Given the description of an element on the screen output the (x, y) to click on. 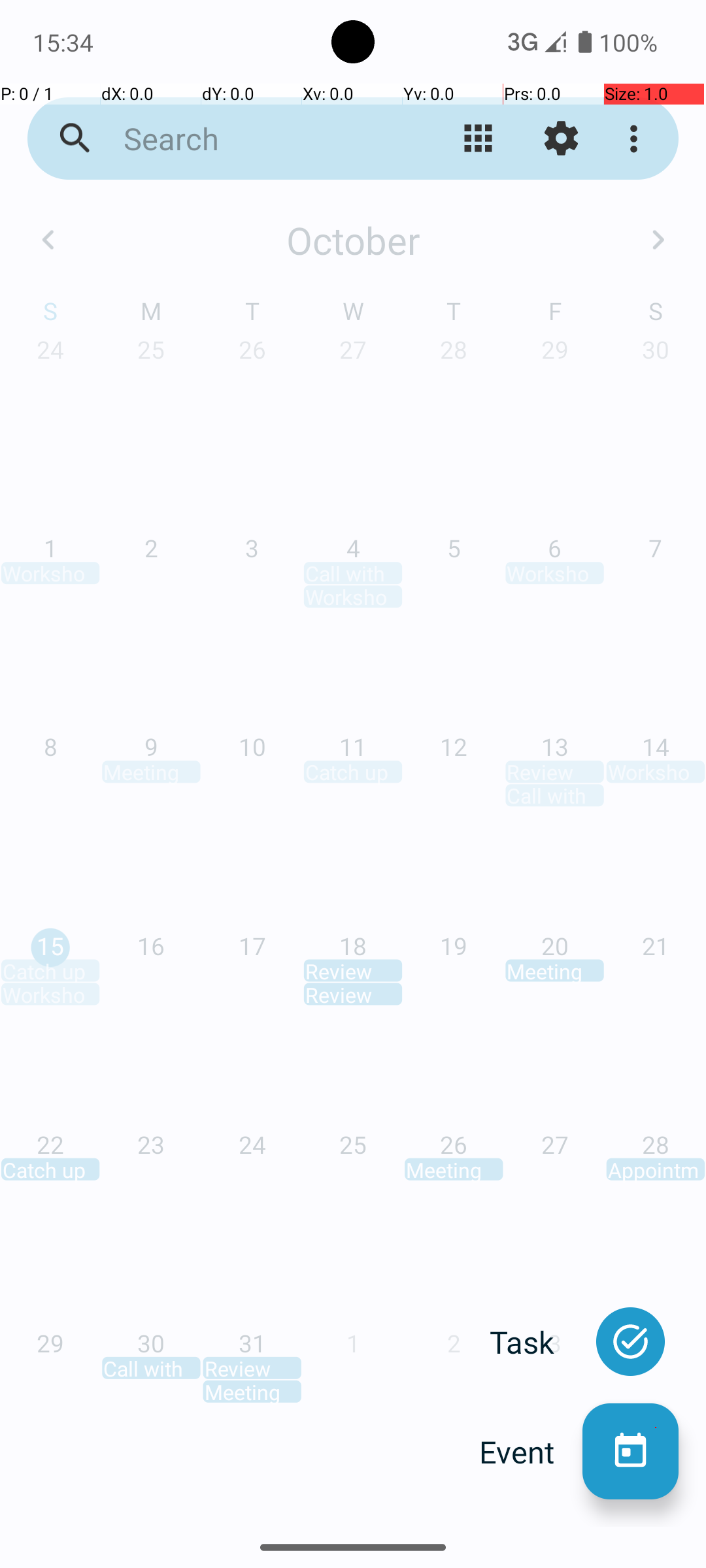
Task Element type: android.widget.TextView (535, 1341)
Event Element type: android.widget.TextView (530, 1451)
